Given the description of an element on the screen output the (x, y) to click on. 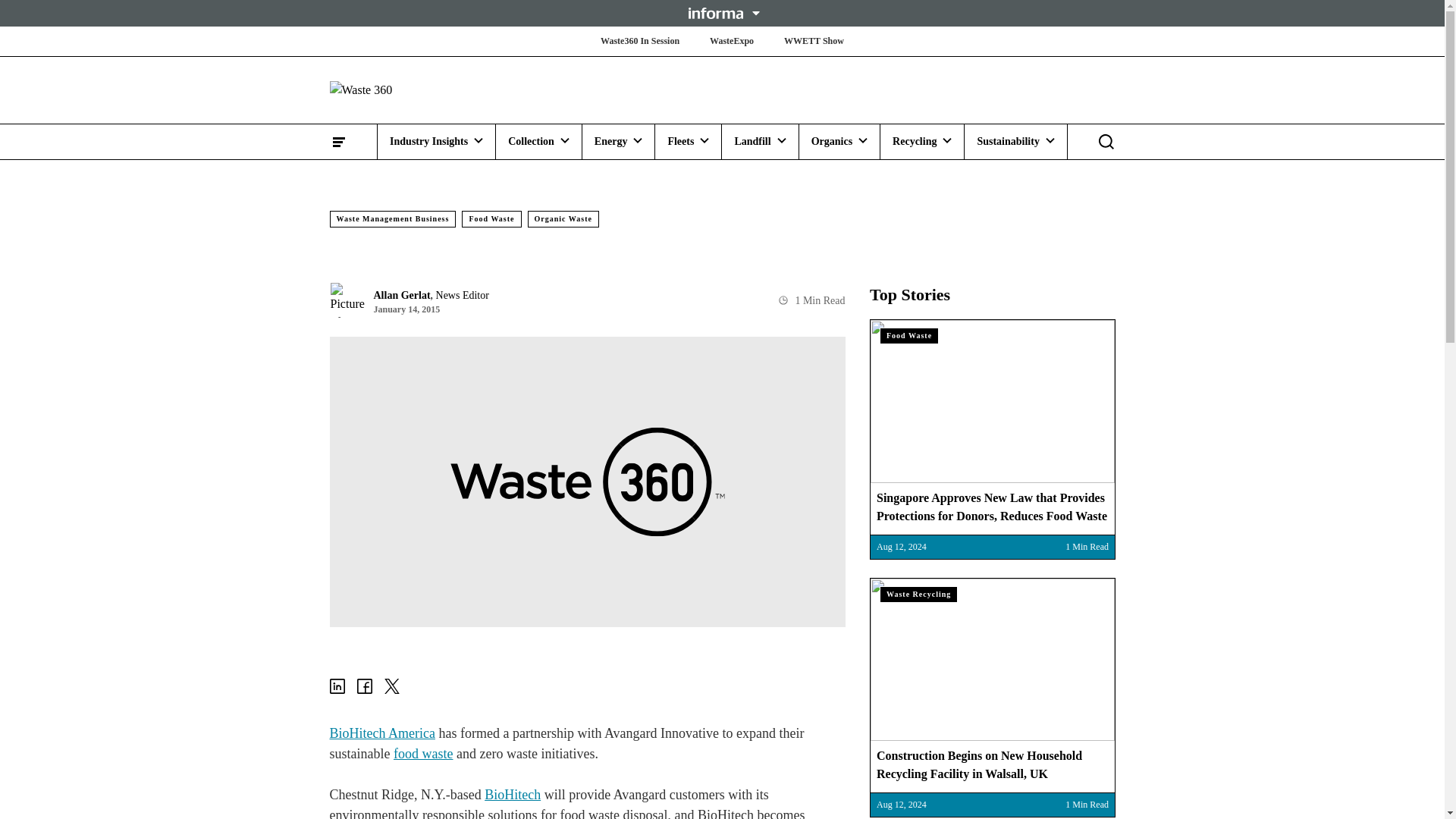
WasteExpo (731, 41)
Waste 360 (419, 90)
WWETT Show (813, 41)
Waste360 In Session (639, 41)
